Given the description of an element on the screen output the (x, y) to click on. 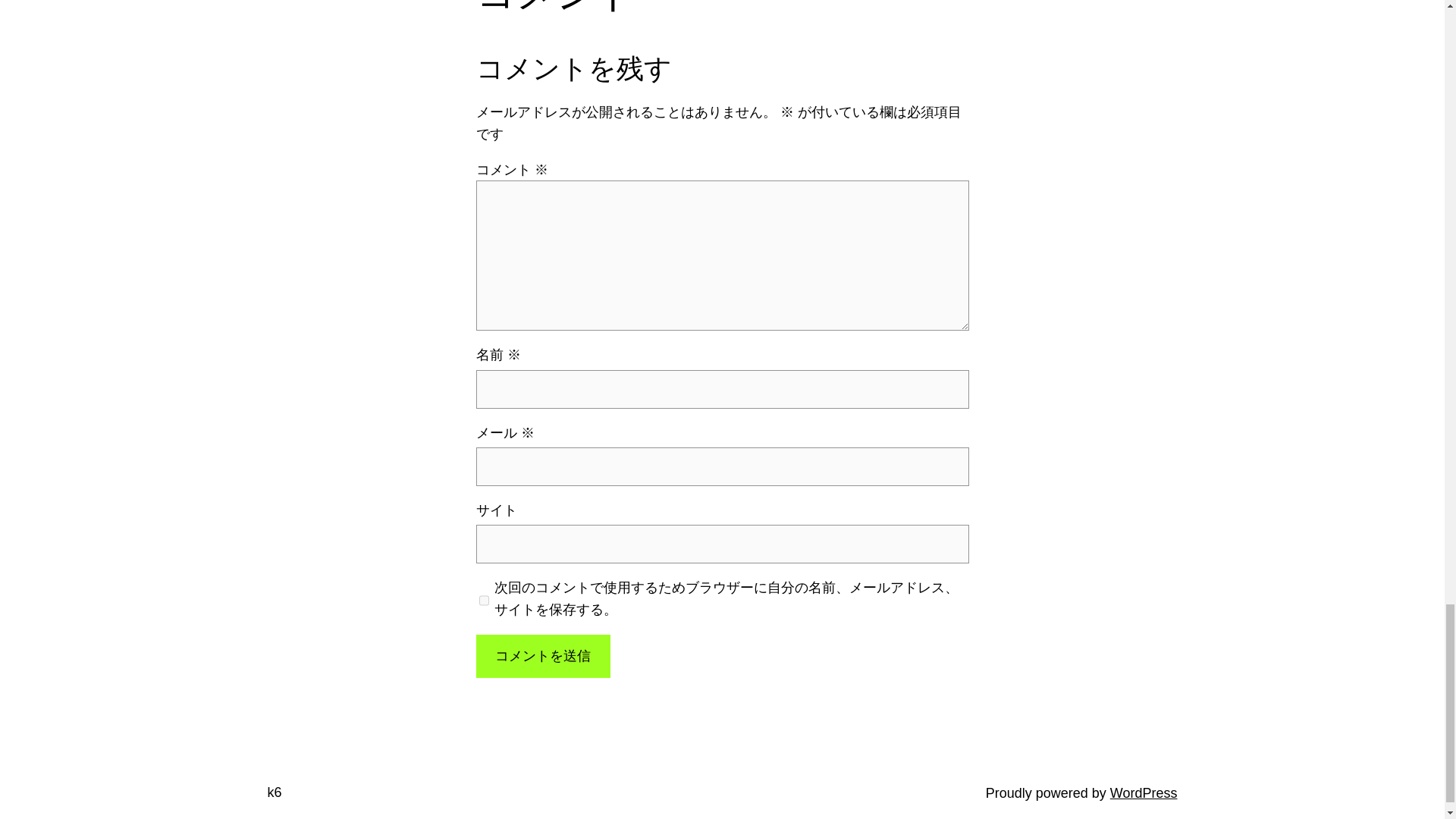
k6 (273, 792)
WordPress (1143, 792)
